Given the description of an element on the screen output the (x, y) to click on. 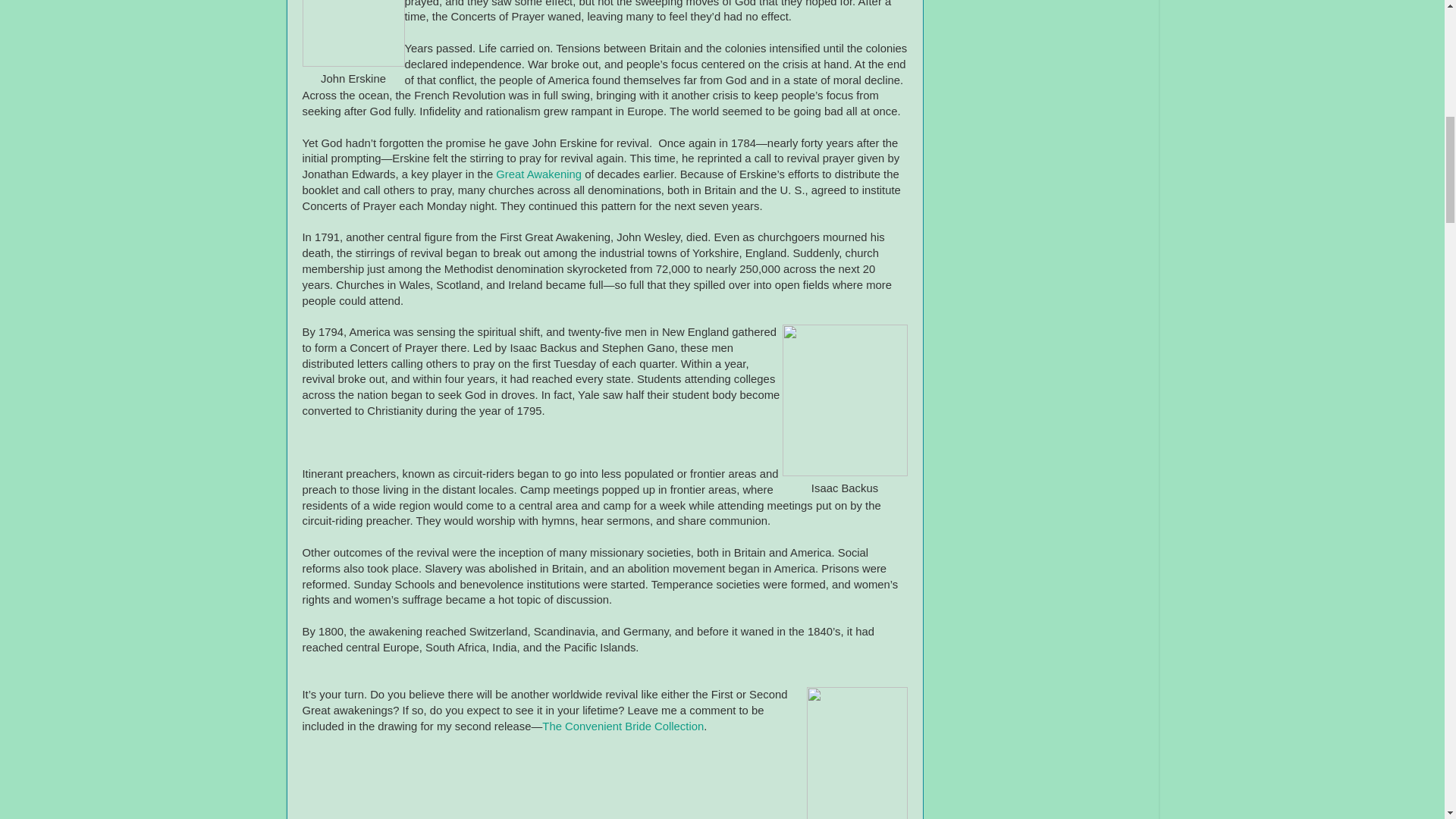
The Convenient Bride Collection (622, 726)
Great Awakening (538, 174)
